Given the description of an element on the screen output the (x, y) to click on. 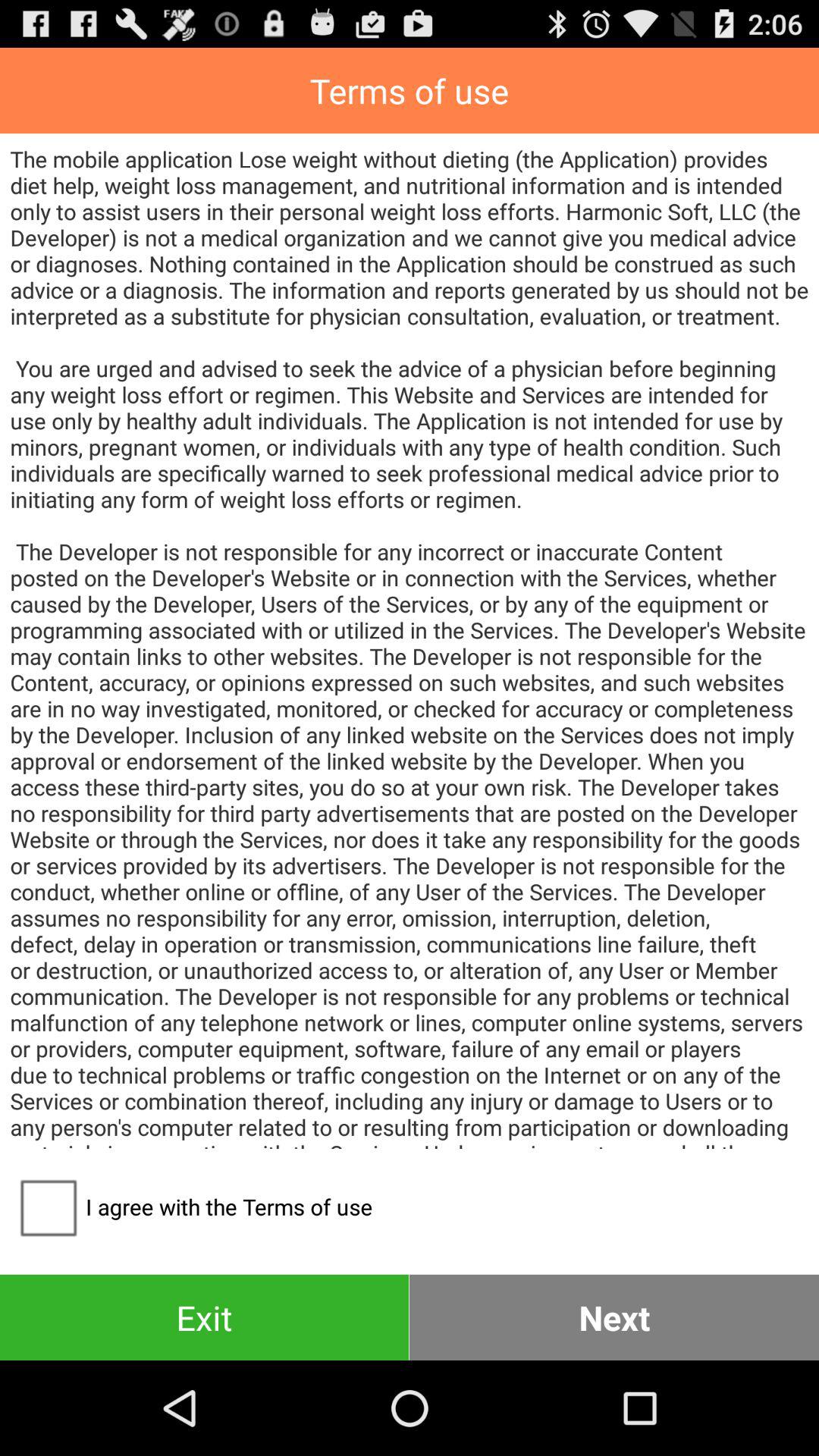
open button to the right of the exit item (614, 1317)
